Given the description of an element on the screen output the (x, y) to click on. 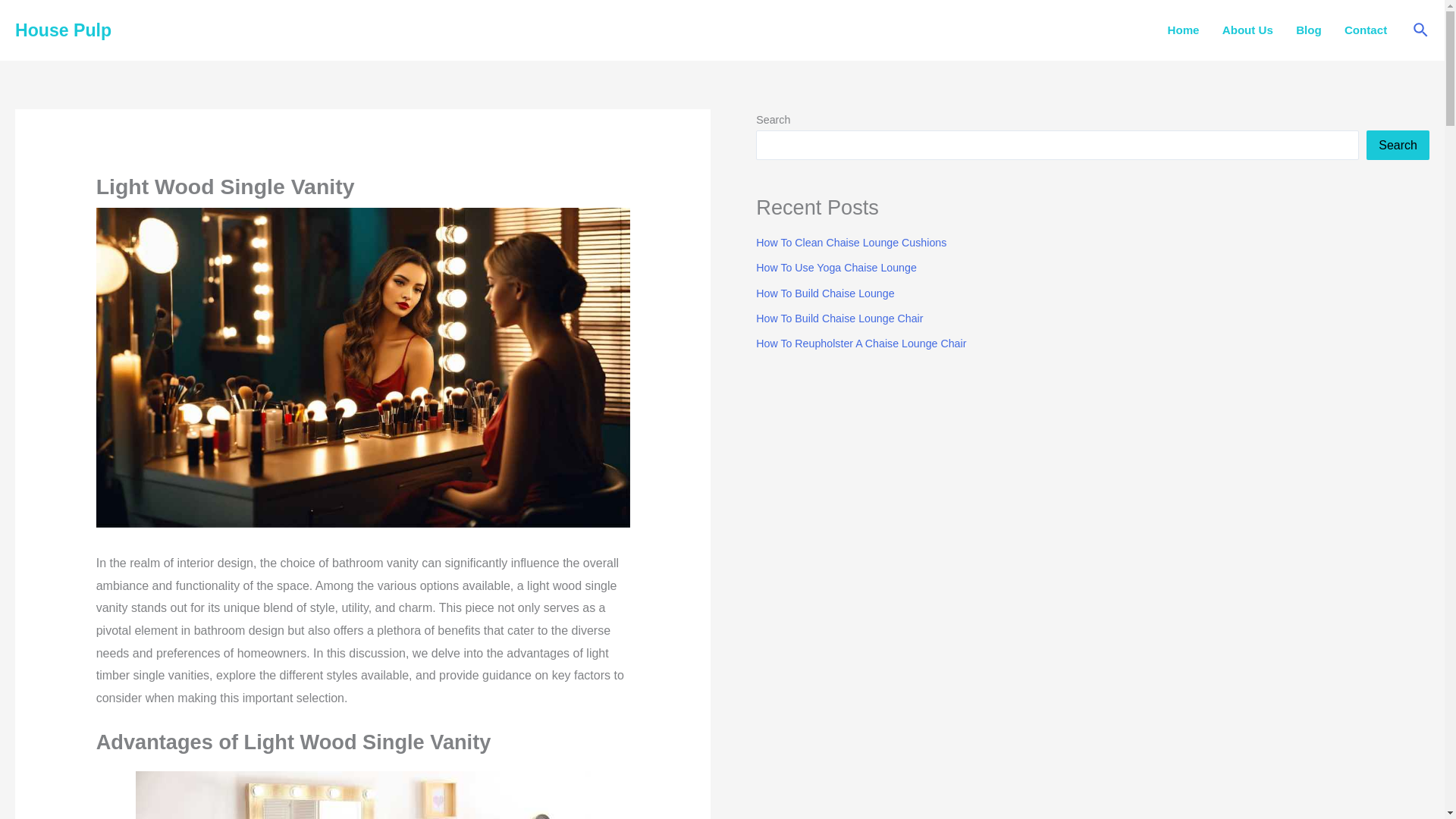
Home (1182, 30)
How To Build Chaise Lounge Chair (839, 318)
About Us (1247, 30)
How To Clean Chaise Lounge Cushions (850, 242)
How To Build Chaise Lounge (824, 293)
Contact (1365, 30)
Search (1398, 144)
How To Reupholster A Chaise Lounge Chair (860, 343)
How To Use Yoga Chaise Lounge (836, 267)
House Pulp (63, 30)
